Given the description of an element on the screen output the (x, y) to click on. 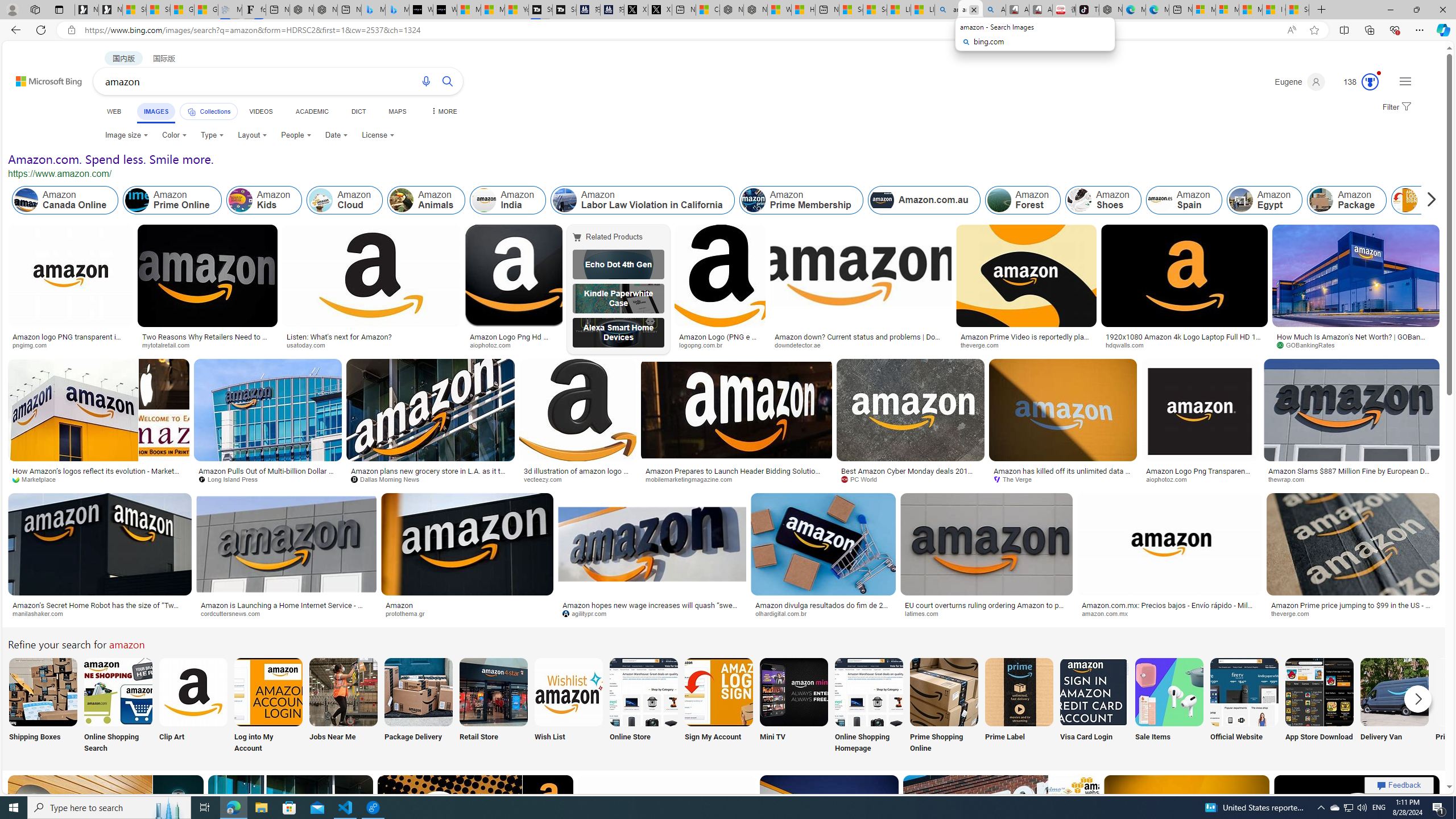
Shipping Boxes (42, 706)
Microsoft Rewards 138 (1356, 81)
Amazon Official Website (1243, 691)
pngimg.com (70, 344)
Amazon Visa Card Login (1093, 691)
Listen: What's next for Amazon?usatoday.comSave (373, 289)
Alexa Smart Home Devices (617, 332)
logopng.com.br (704, 344)
Amazon India (508, 199)
